Given the description of an element on the screen output the (x, y) to click on. 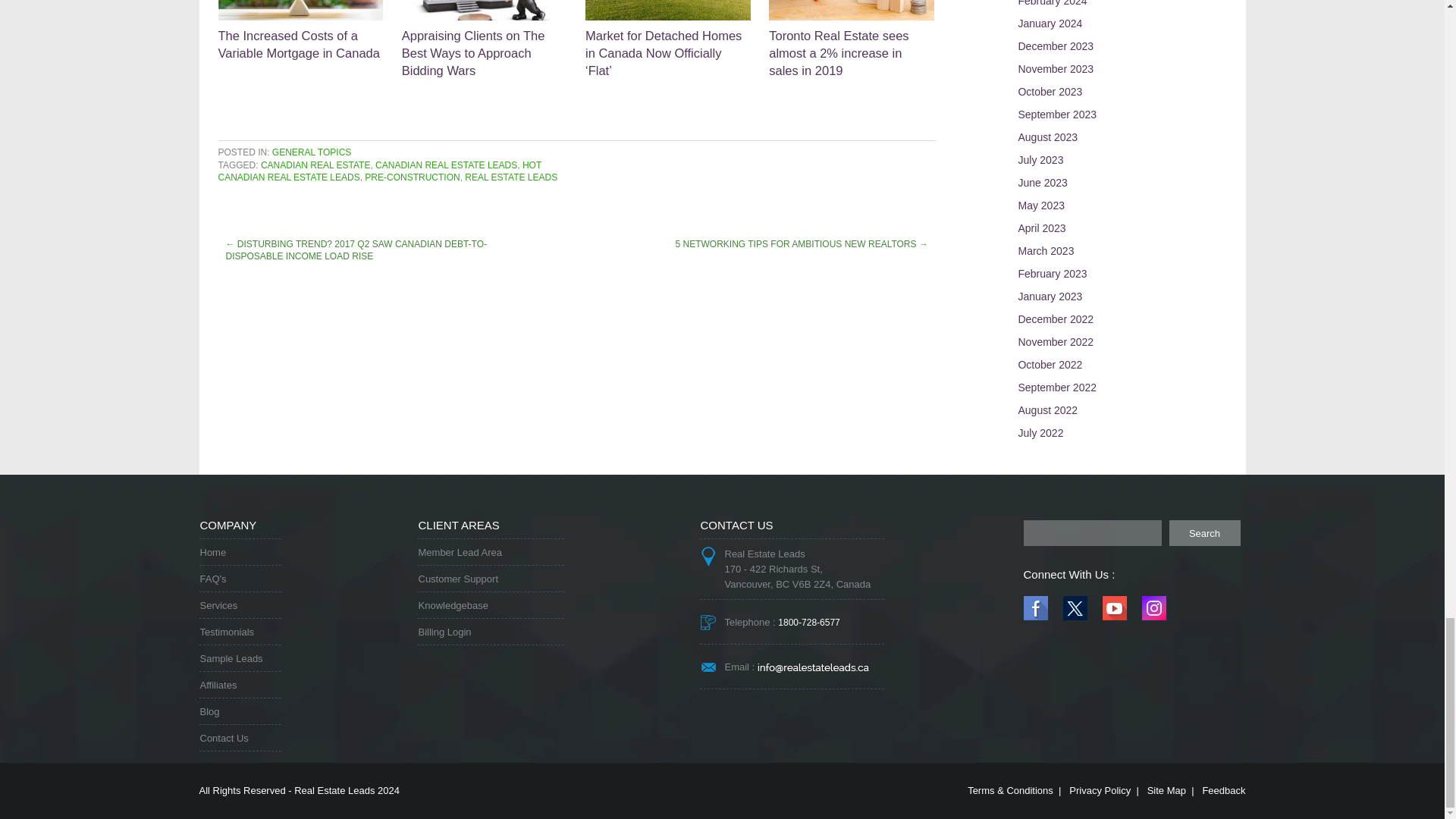
Appraising Clients on The Best Ways to Approach Bidding Wars (484, 39)
Search (1204, 533)
The Increased Costs of a Variable Mortgage in Canada (301, 30)
Search (1204, 533)
